Given the description of an element on the screen output the (x, y) to click on. 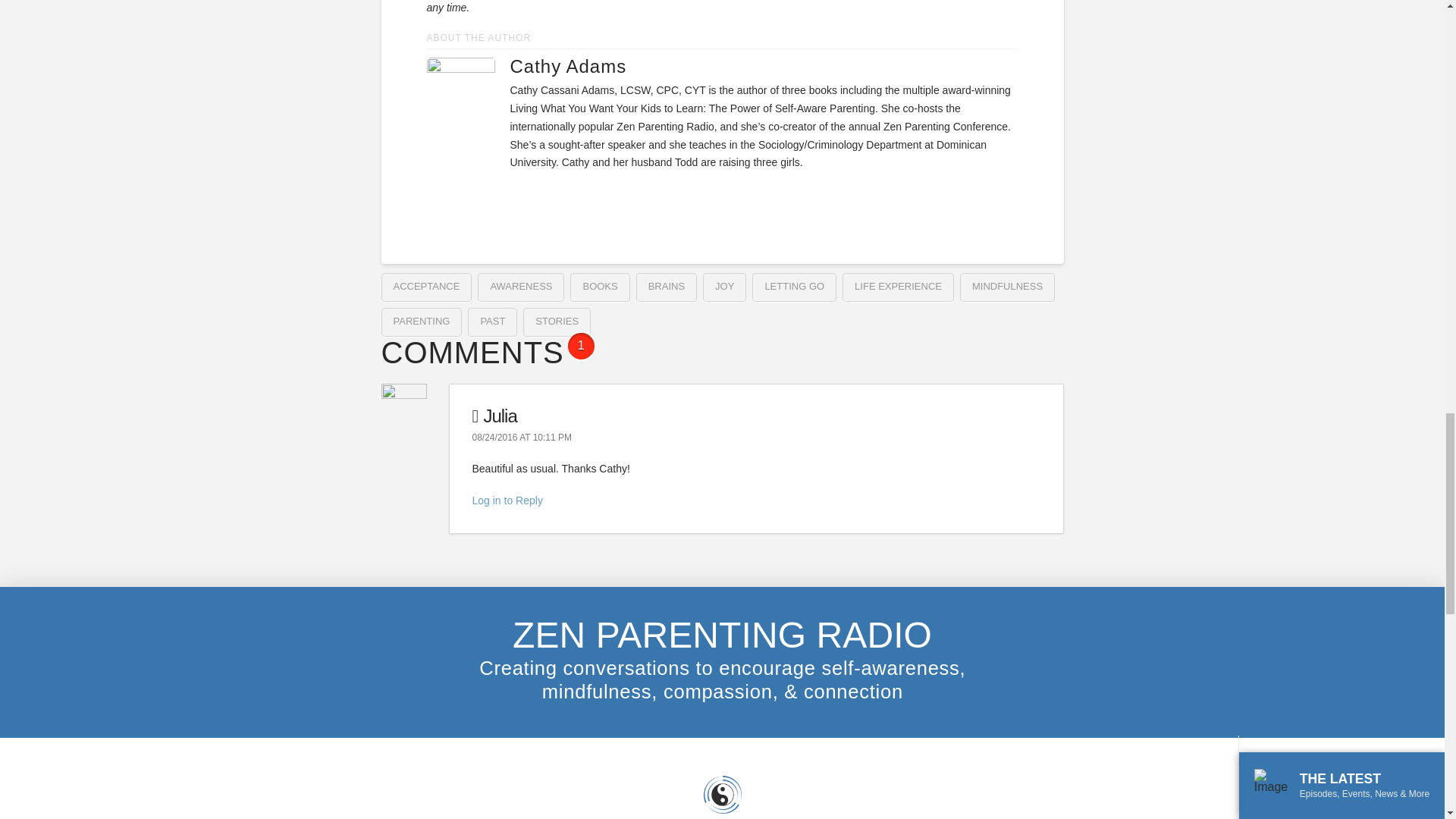
LIFE EXPERIENCE (898, 287)
LETTING GO (793, 287)
PARENTING (420, 321)
MINDFULNESS (1006, 287)
Log in to Reply (506, 500)
JOY (724, 287)
STORIES (556, 321)
AWARENESS (520, 287)
BOOKS (599, 287)
BRAINS (666, 287)
